Given the description of an element on the screen output the (x, y) to click on. 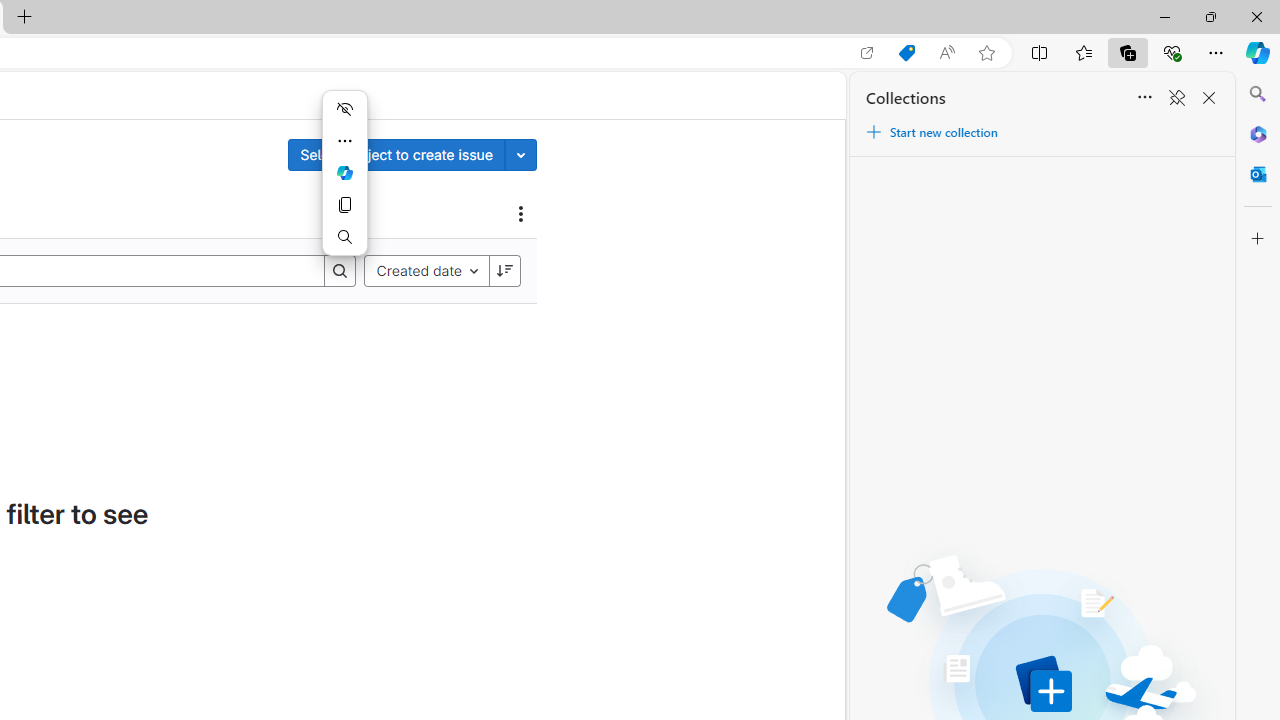
Mini menu on text selection (344, 184)
Close Collections (1208, 98)
Start new collection (931, 132)
More actions (344, 140)
Sort direction: Descending (504, 270)
Toggle project select (521, 154)
Mini menu on text selection (344, 172)
Copy (344, 204)
